Given the description of an element on the screen output the (x, y) to click on. 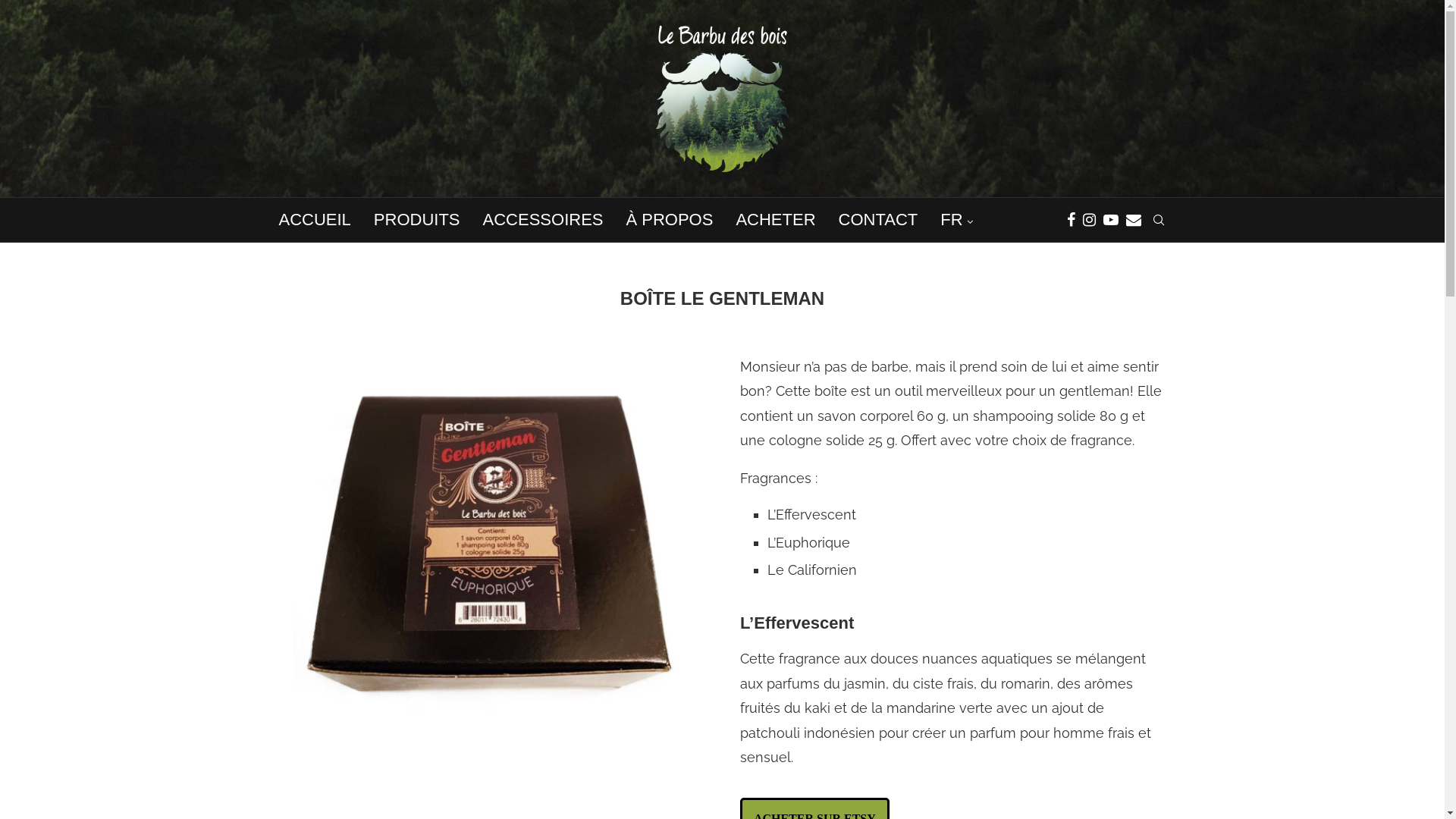
ACCUEIL Element type: text (315, 219)
PRODUITS Element type: text (416, 219)
FR Element type: text (956, 220)
ACHETER Element type: text (775, 219)
CONTACT Element type: text (878, 219)
ACCESSOIRES Element type: text (543, 219)
